Given the description of an element on the screen output the (x, y) to click on. 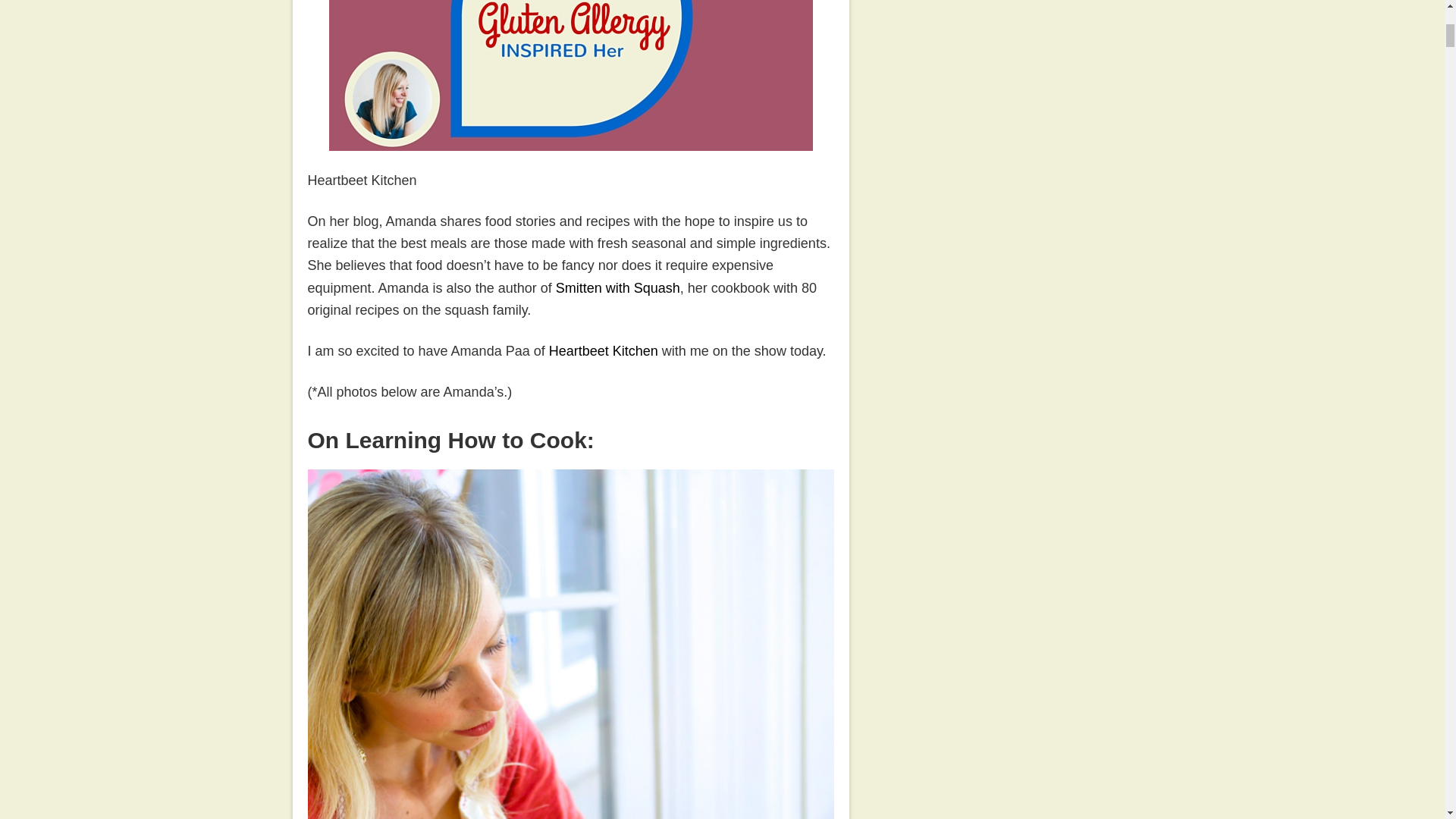
Smitten with Squash (617, 287)
Heartbeet Kitchen (603, 350)
